Given the description of an element on the screen output the (x, y) to click on. 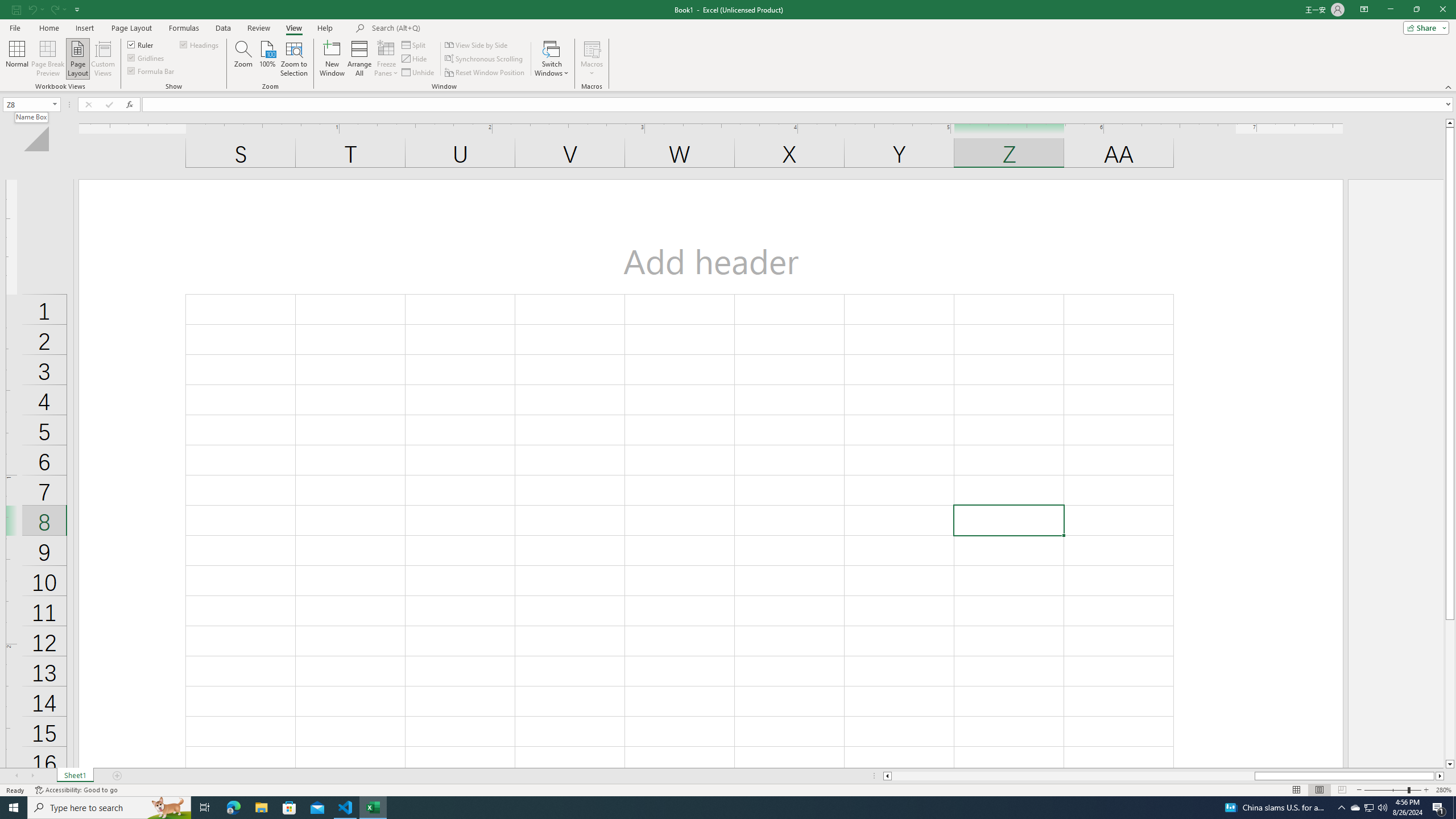
Hide (415, 58)
Switch Windows (551, 58)
Ruler (141, 44)
Zoom to Selection (293, 58)
View Side by Side (476, 44)
Synchronous Scrolling (484, 58)
New Window (332, 58)
